Given the description of an element on the screen output the (x, y) to click on. 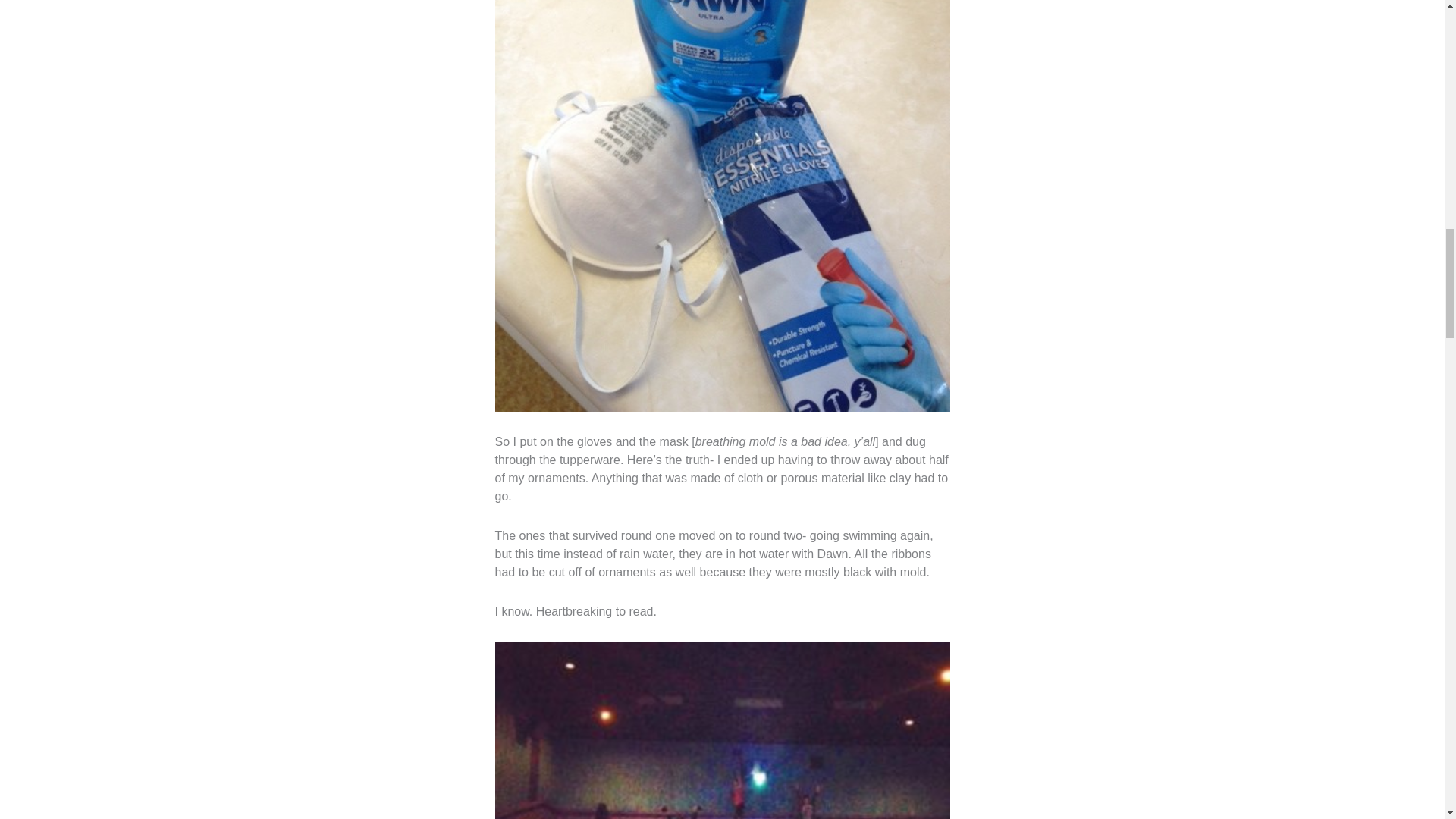
washing (722, 730)
